Given the description of an element on the screen output the (x, y) to click on. 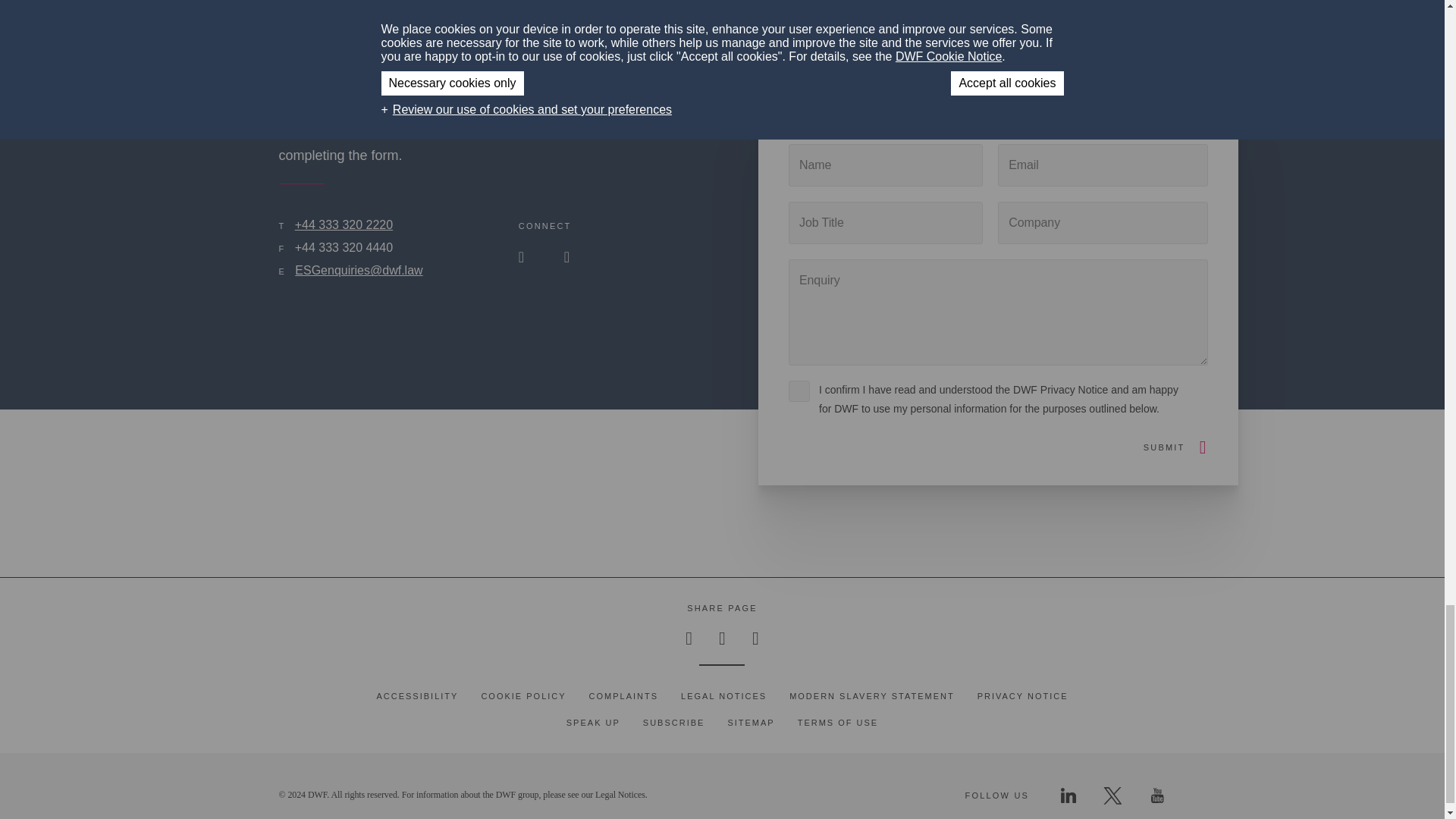
Submit (1163, 447)
